Given the description of an element on the screen output the (x, y) to click on. 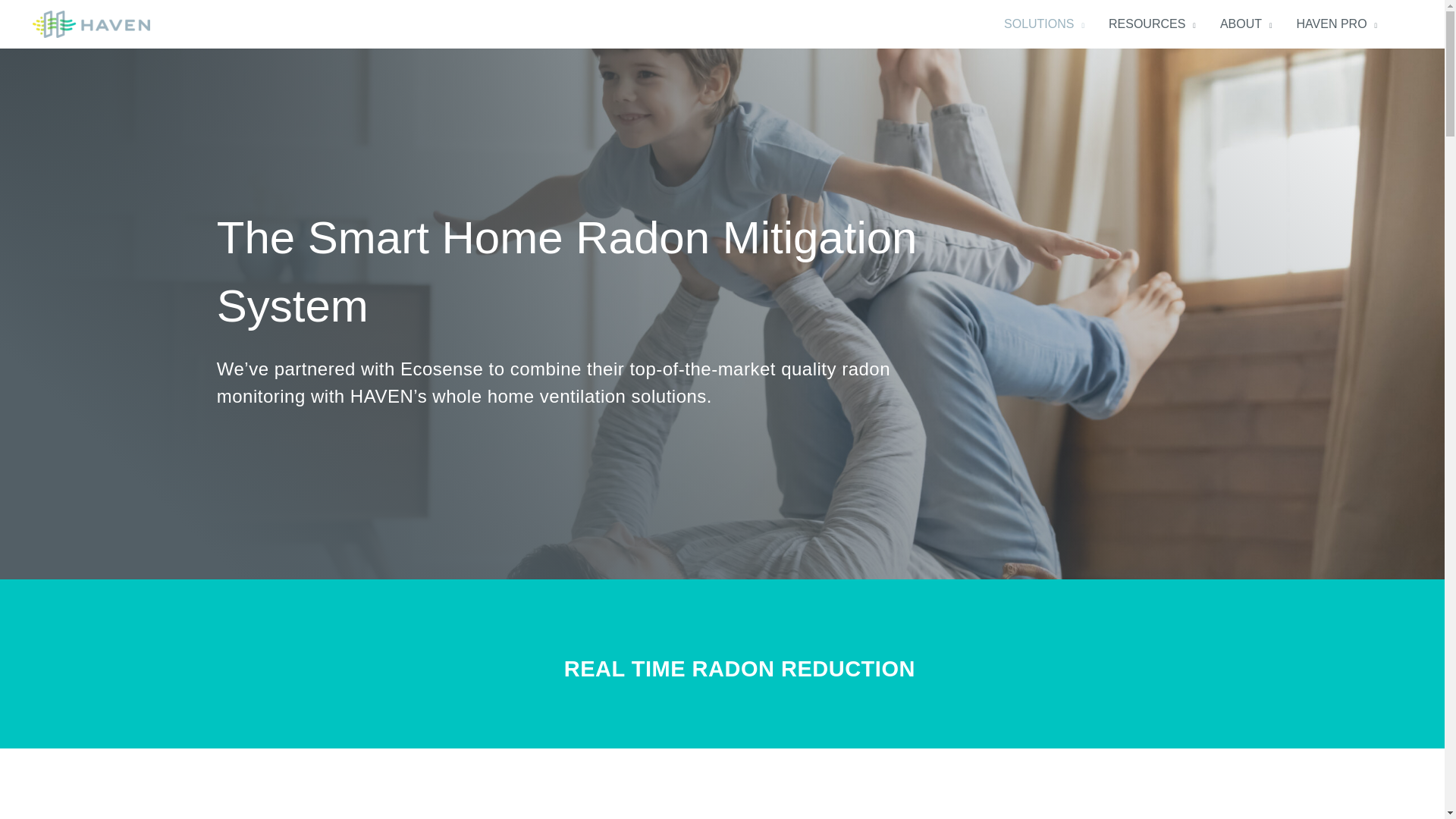
SOLUTIONS (1043, 24)
RESOURCES (1152, 24)
ABOUT (1246, 24)
HAVEN PRO (1337, 24)
